Given the description of an element on the screen output the (x, y) to click on. 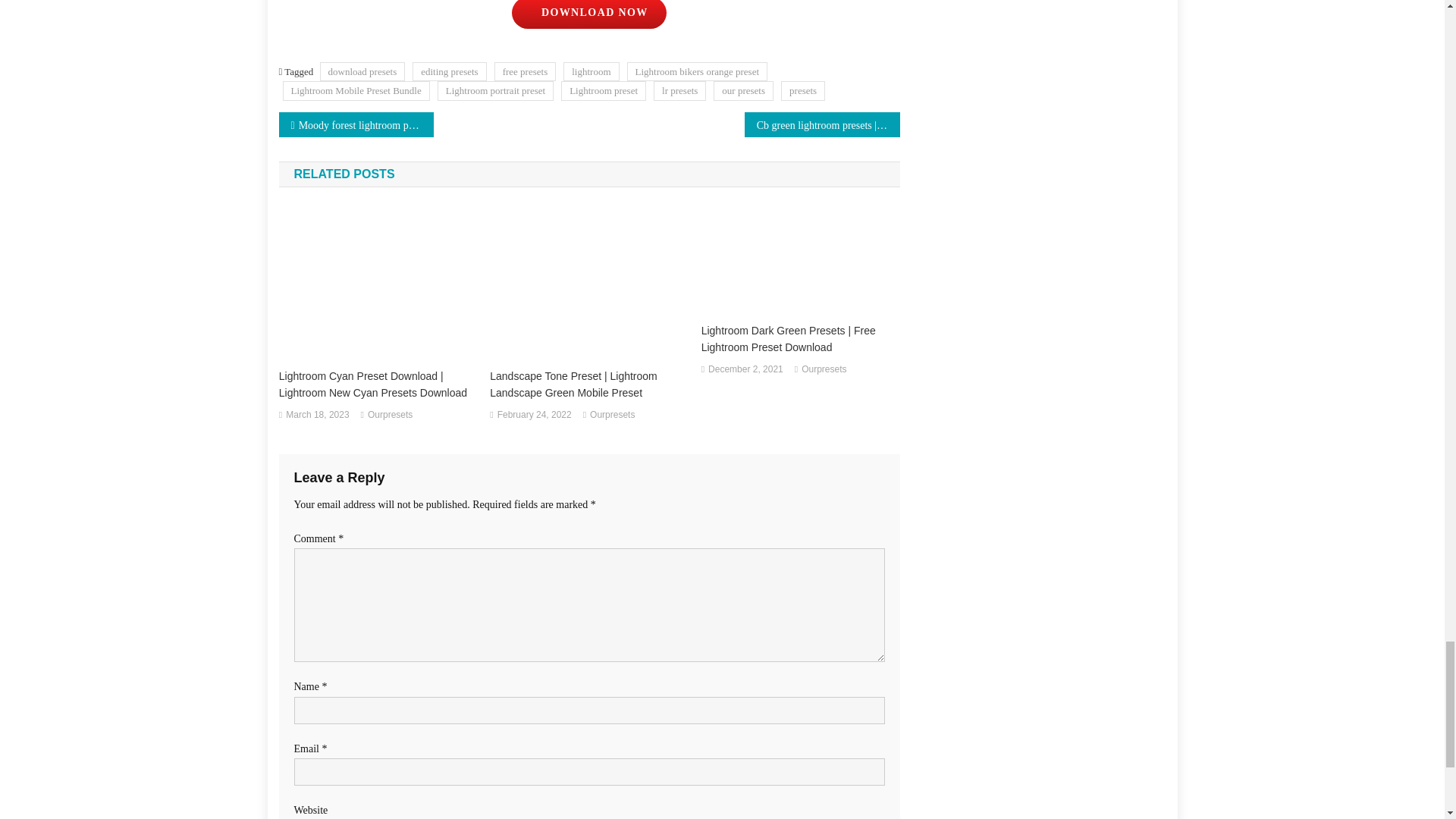
Lightroom preset (603, 90)
Lightroom Mobile Preset Bundle (355, 90)
free presets (525, 71)
Lightroom bikers orange preset (697, 71)
editing presets (449, 71)
download presets (363, 71)
   DOWNLOAD NOW (588, 14)
Lightroom portrait preset (495, 90)
lightroom (590, 71)
